Given the description of an element on the screen output the (x, y) to click on. 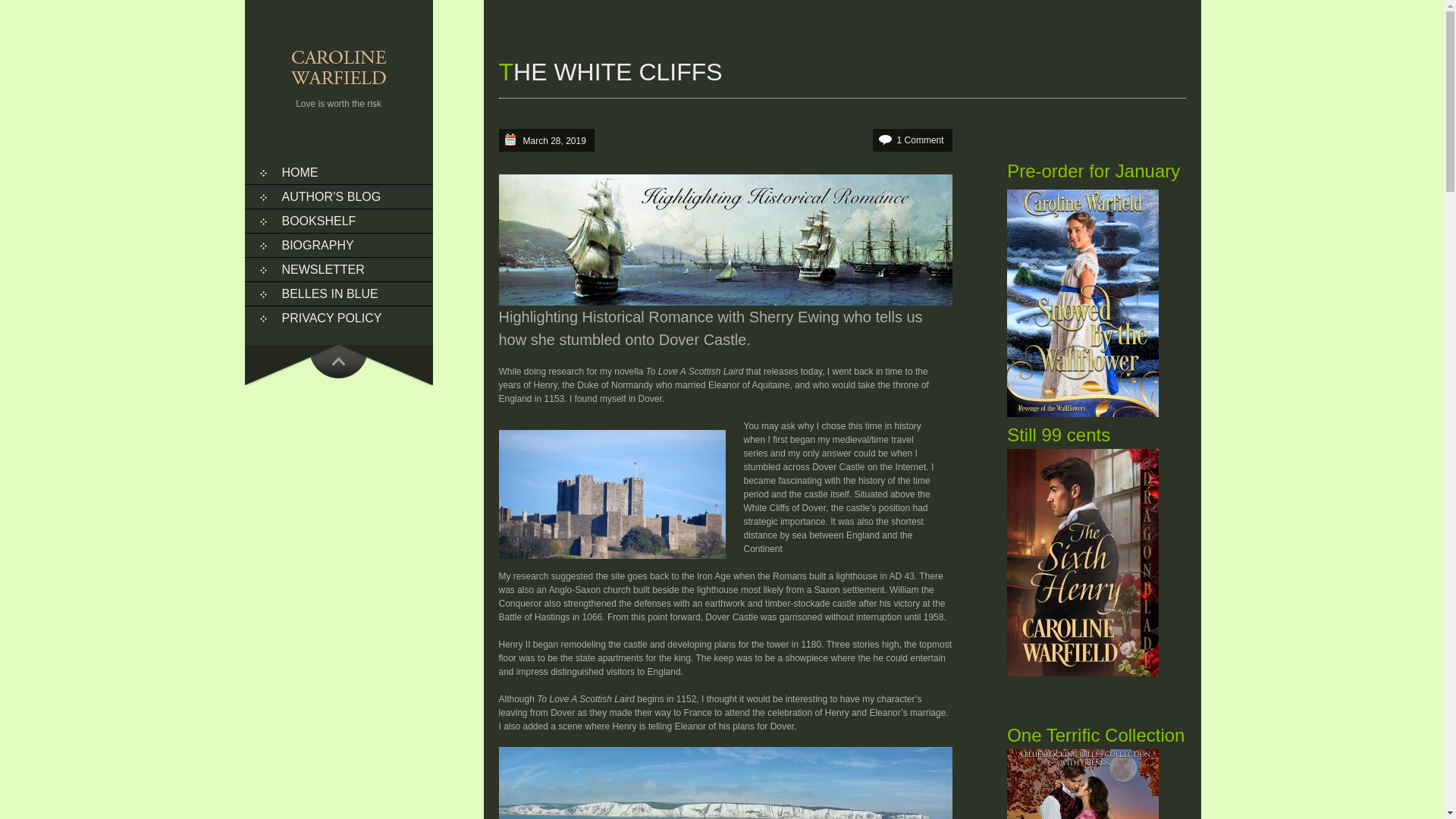
HOME (338, 172)
NEWSLETTER (338, 269)
BOOKSHELF (338, 220)
BELLES IN BLUE (338, 293)
Romance (612, 494)
PRIVACY POLICY (338, 318)
SKIP TO CONTENT (273, 179)
Romance (725, 782)
Romance (725, 239)
BIOGRAPHY (338, 245)
